Given the description of an element on the screen output the (x, y) to click on. 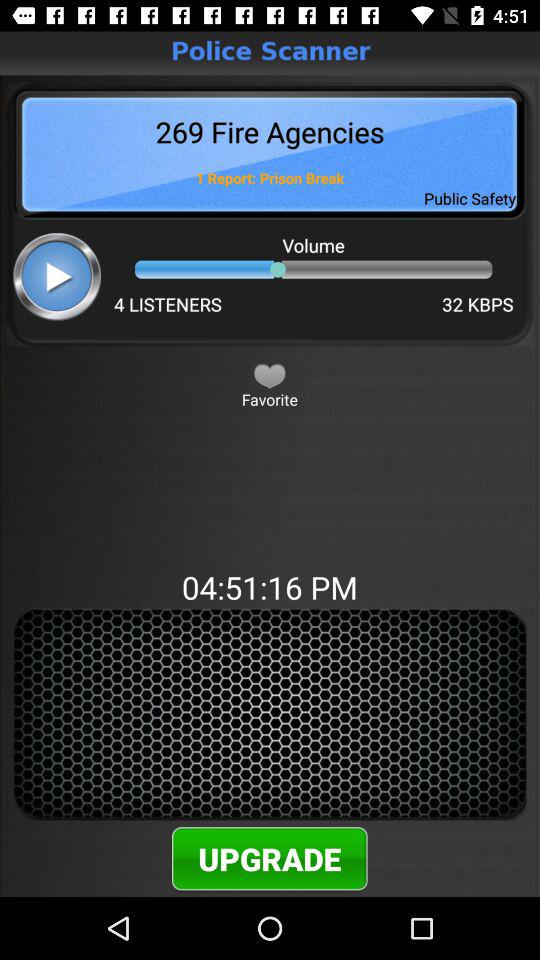
tap the upgrade item (269, 858)
